Given the description of an element on the screen output the (x, y) to click on. 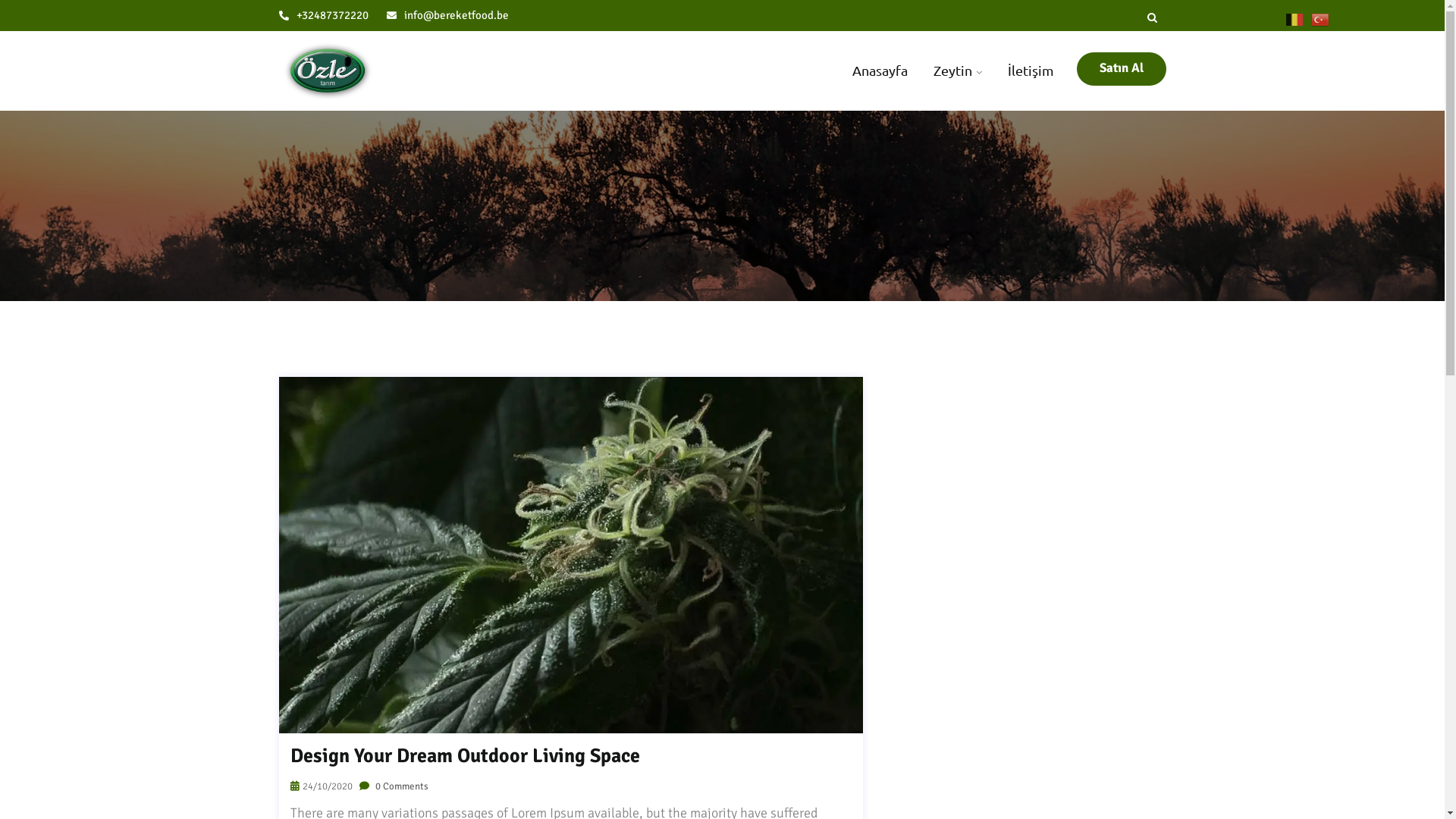
Design Your Dream Outdoor Living Space Element type: text (464, 756)
info@bereketfood.be Element type: text (447, 15)
Zeytin Element type: text (956, 70)
0 Comments Element type: text (393, 786)
Anasayfa Element type: text (879, 70)
+32487372220 Element type: text (323, 15)
